Given the description of an element on the screen output the (x, y) to click on. 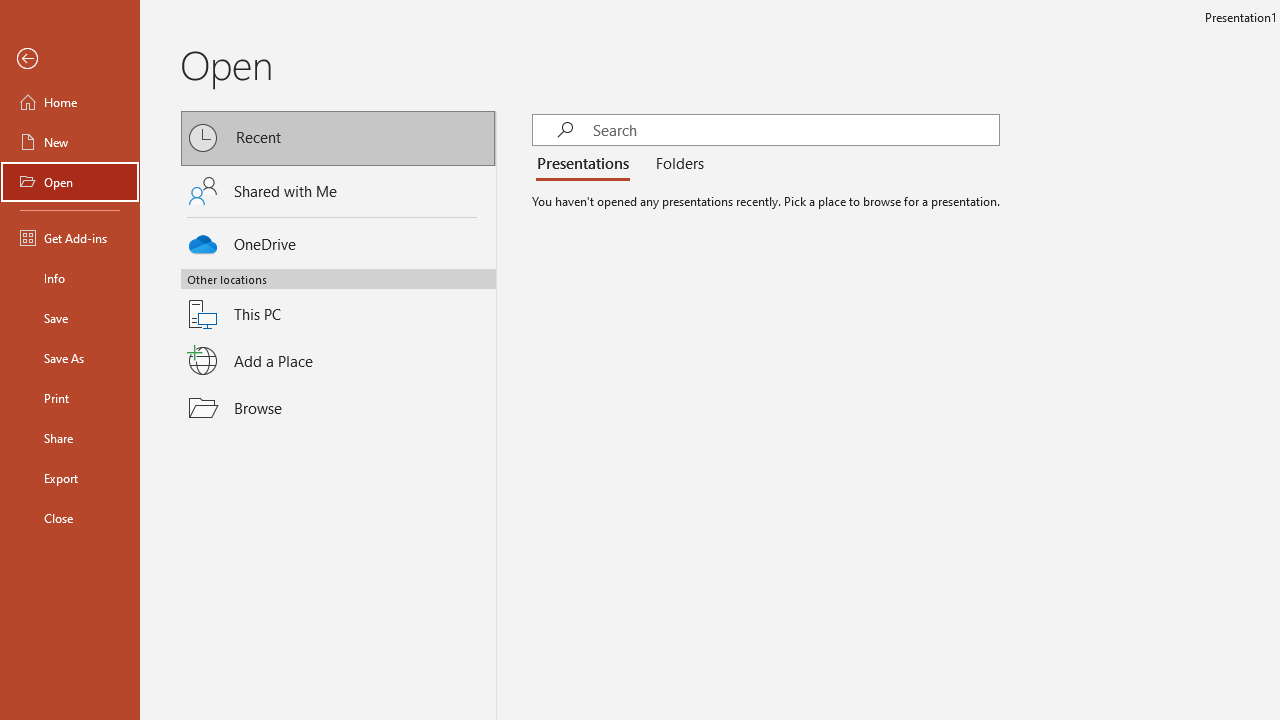
Recent (338, 138)
Add a Place (338, 361)
Shared with Me (338, 191)
Get Add-ins (69, 237)
Back (69, 59)
